Given the description of an element on the screen output the (x, y) to click on. 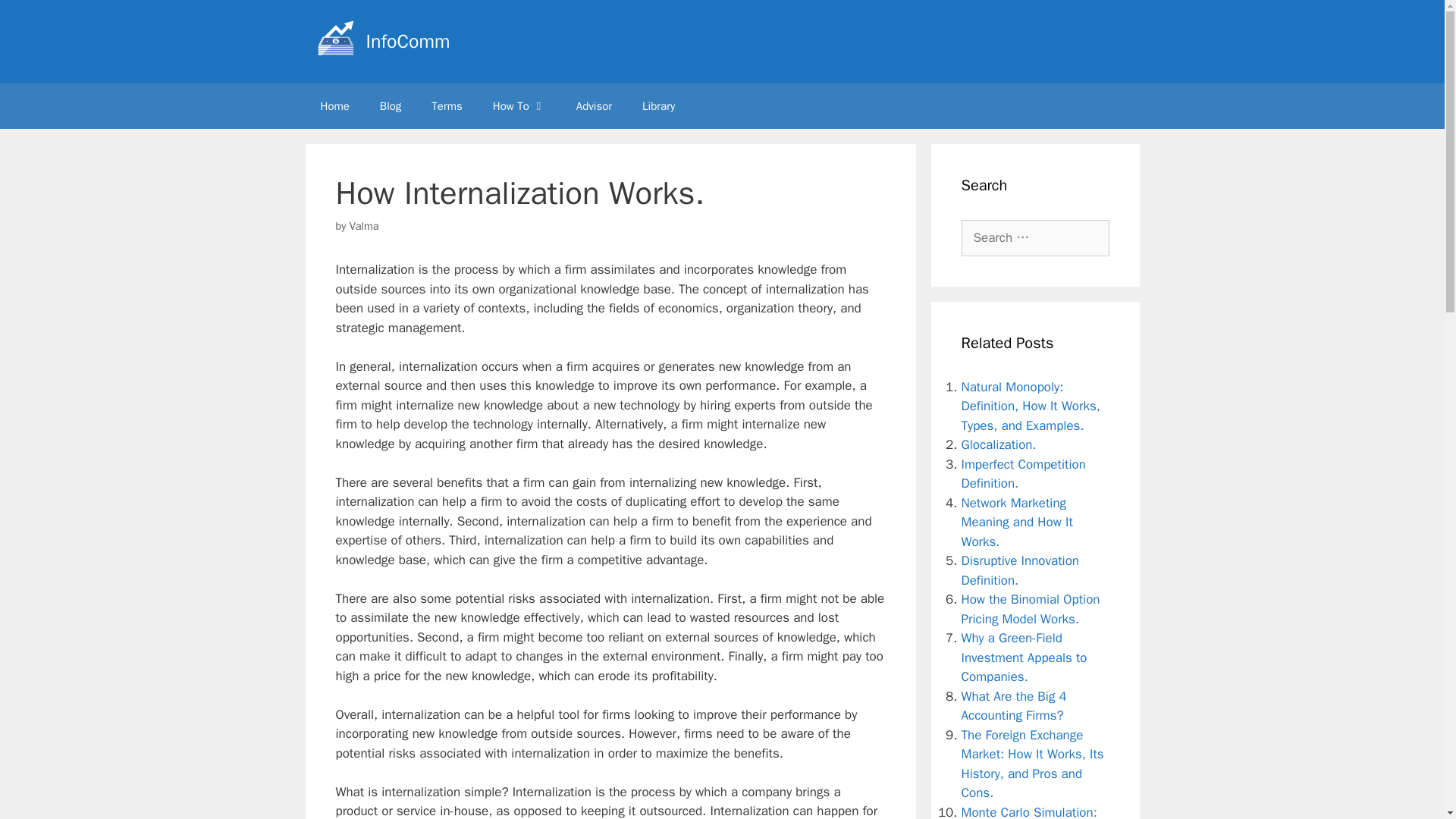
Valma (363, 225)
InfoComm (407, 41)
Terms (446, 105)
Library (658, 105)
View all posts by Valma (363, 225)
Blog (390, 105)
What Are the Big 4 Accounting Firms? (1013, 705)
Search (35, 18)
How the Binomial Option Pricing Model Works. (1030, 609)
